Given the description of an element on the screen output the (x, y) to click on. 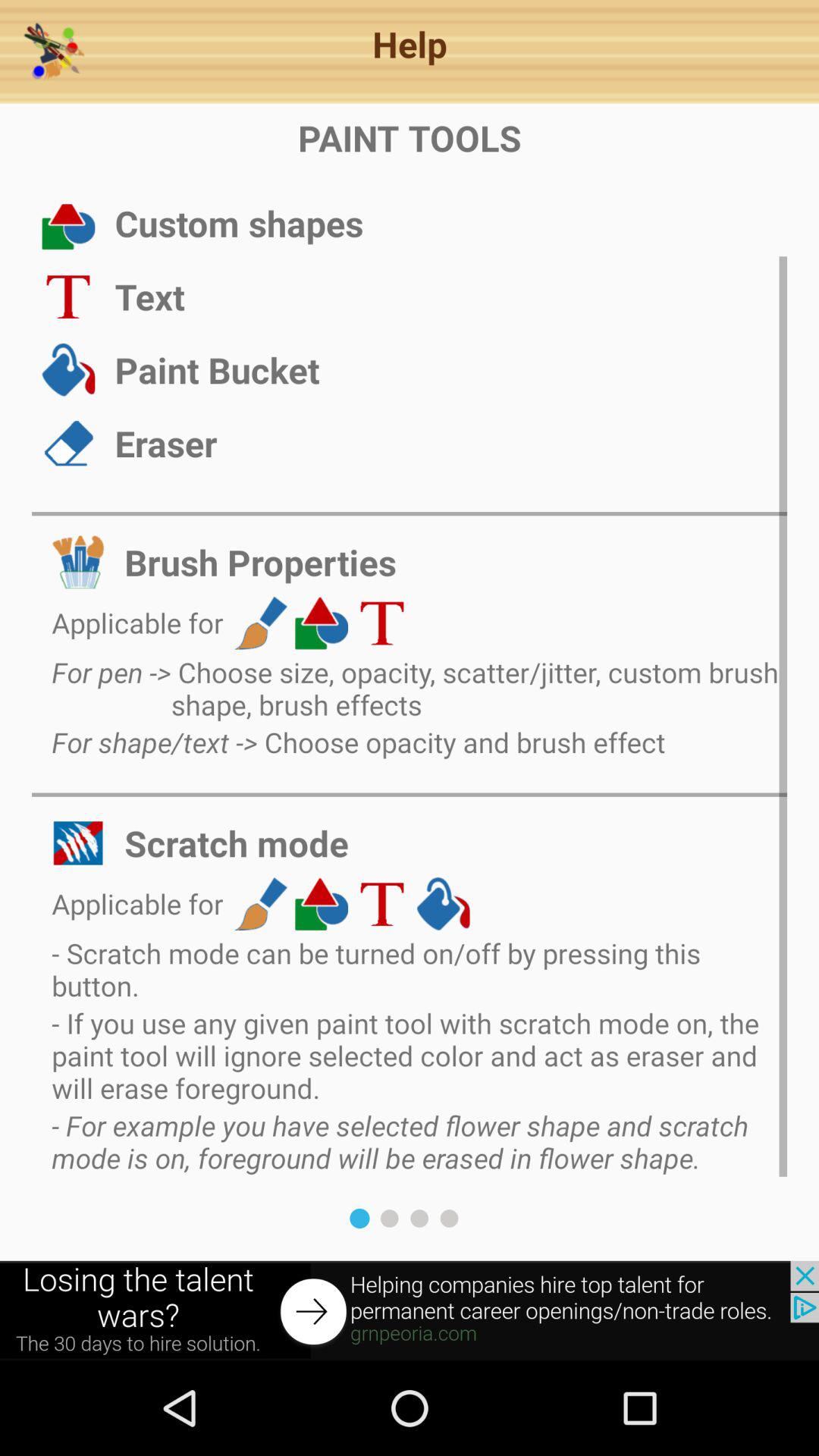
open advertisement (409, 1310)
